Given the description of an element on the screen output the (x, y) to click on. 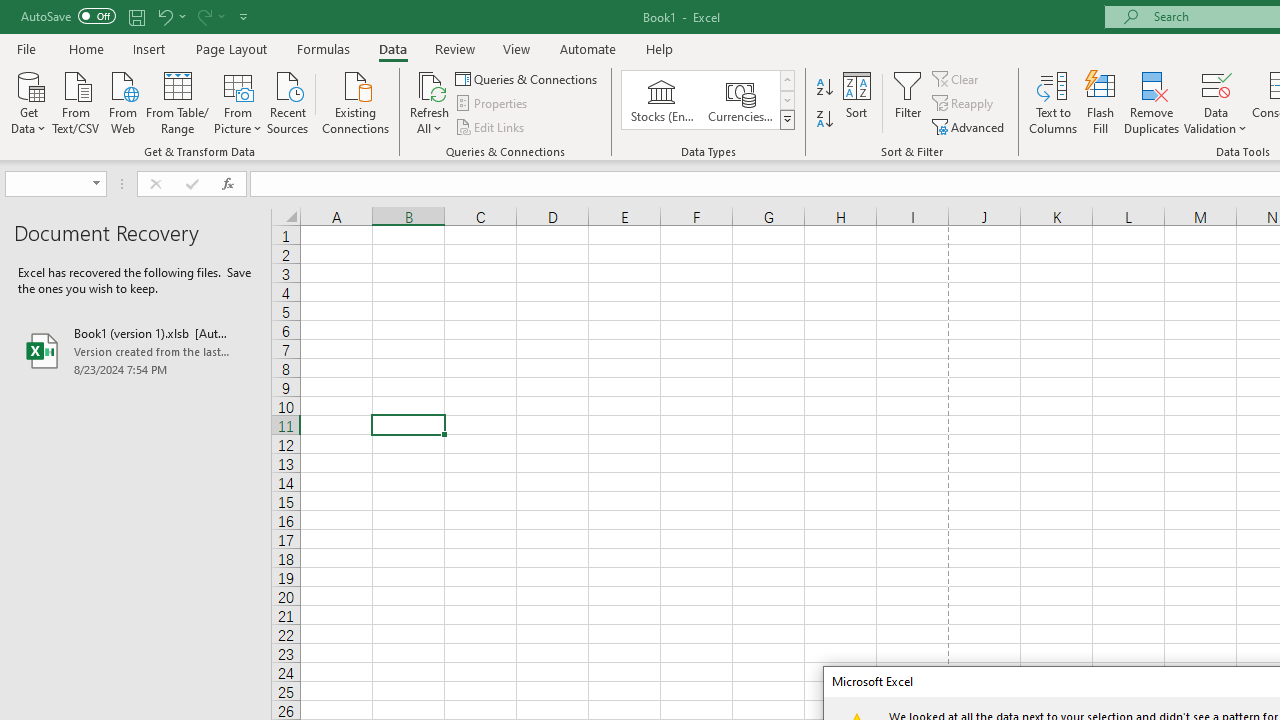
Reapply (964, 103)
Stocks (English) (662, 100)
Text to Columns... (1053, 102)
AutomationID: ConvertToLinkedEntity (708, 99)
Filter (908, 102)
Data Types (786, 120)
